Given the description of an element on the screen output the (x, y) to click on. 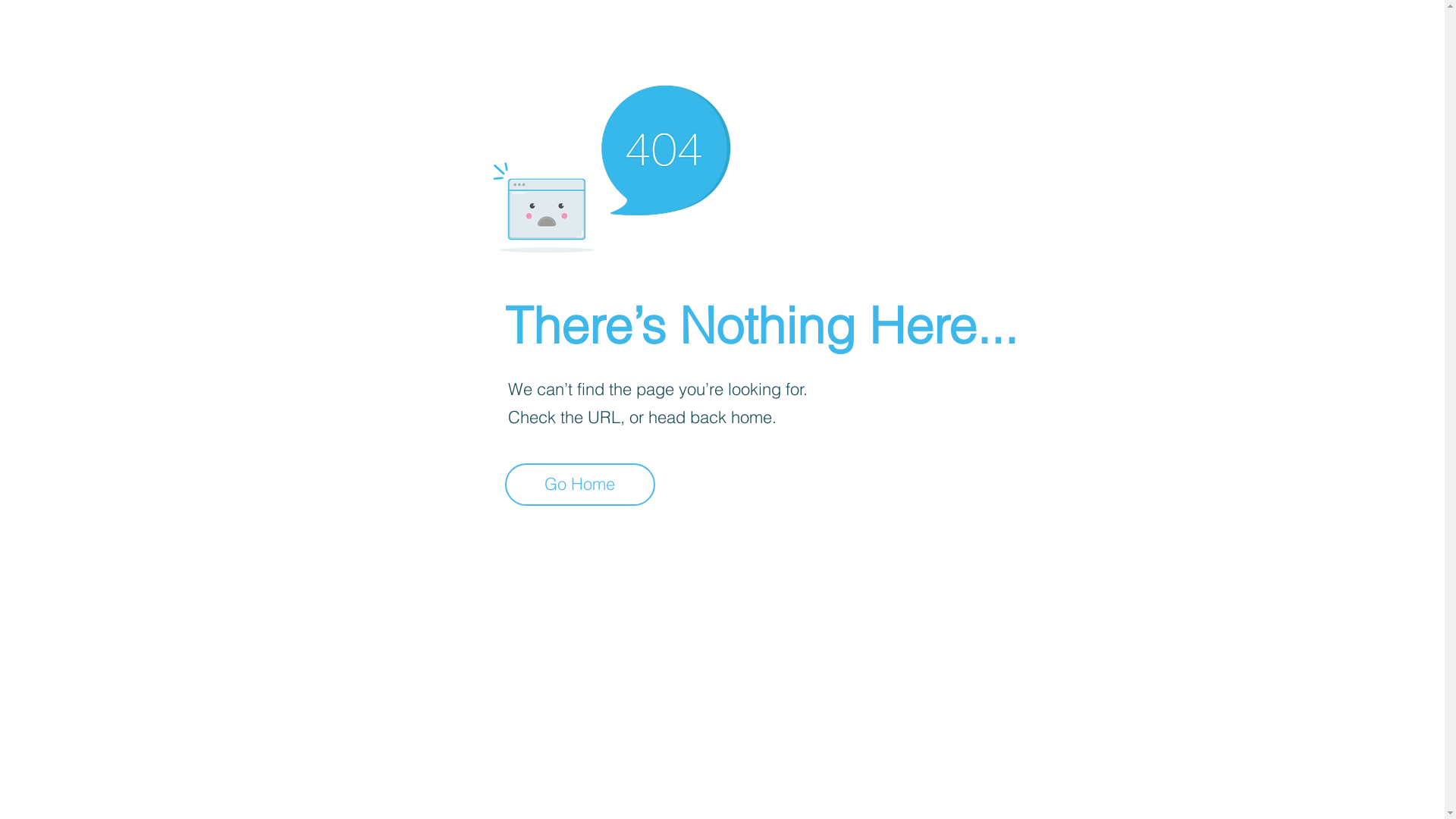
Go Home Element type: text (580, 484)
404-icon_2.png Element type: hover (610, 164)
